Given the description of an element on the screen output the (x, y) to click on. 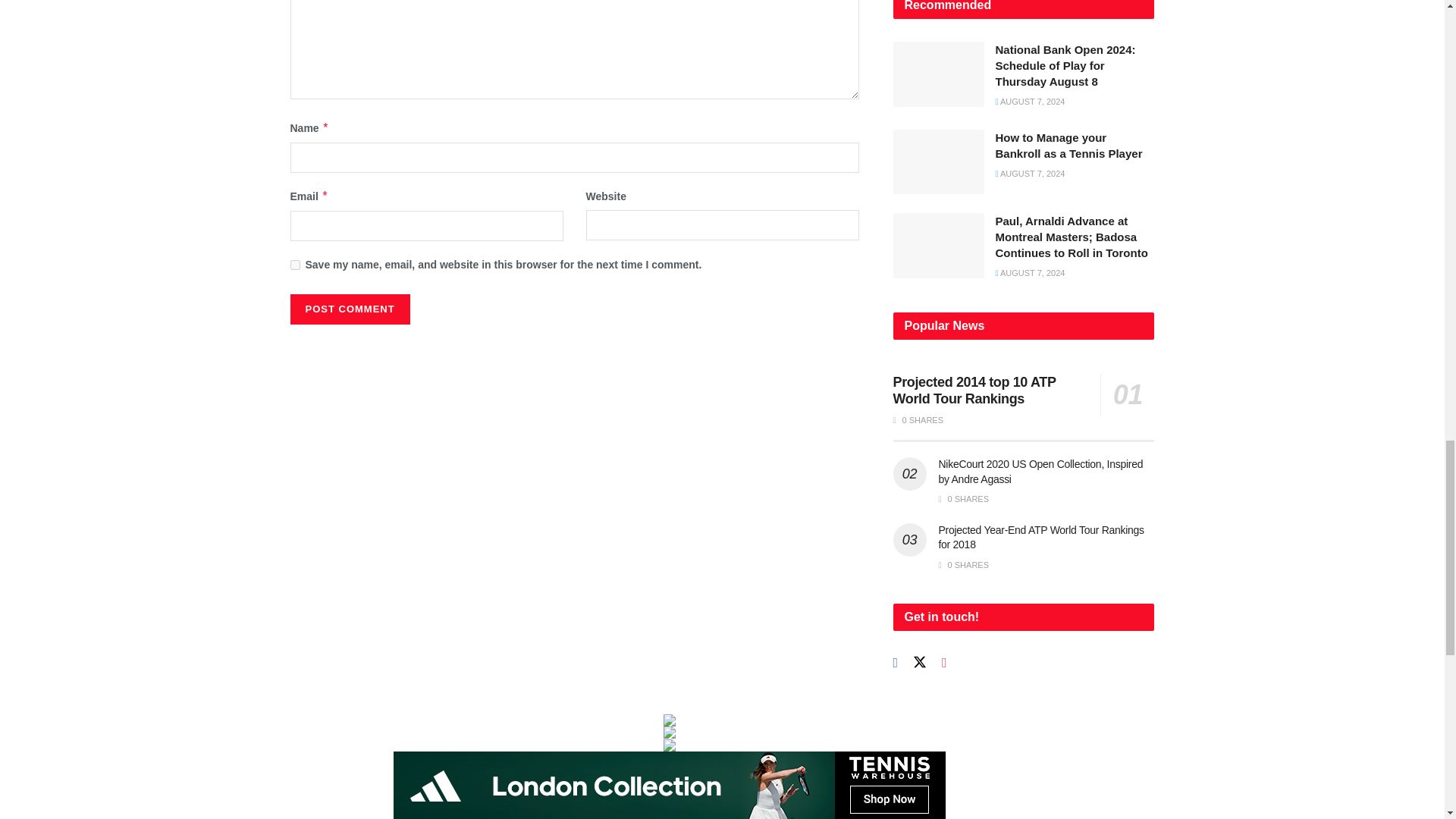
Post Comment (349, 309)
yes (294, 265)
